Given the description of an element on the screen output the (x, y) to click on. 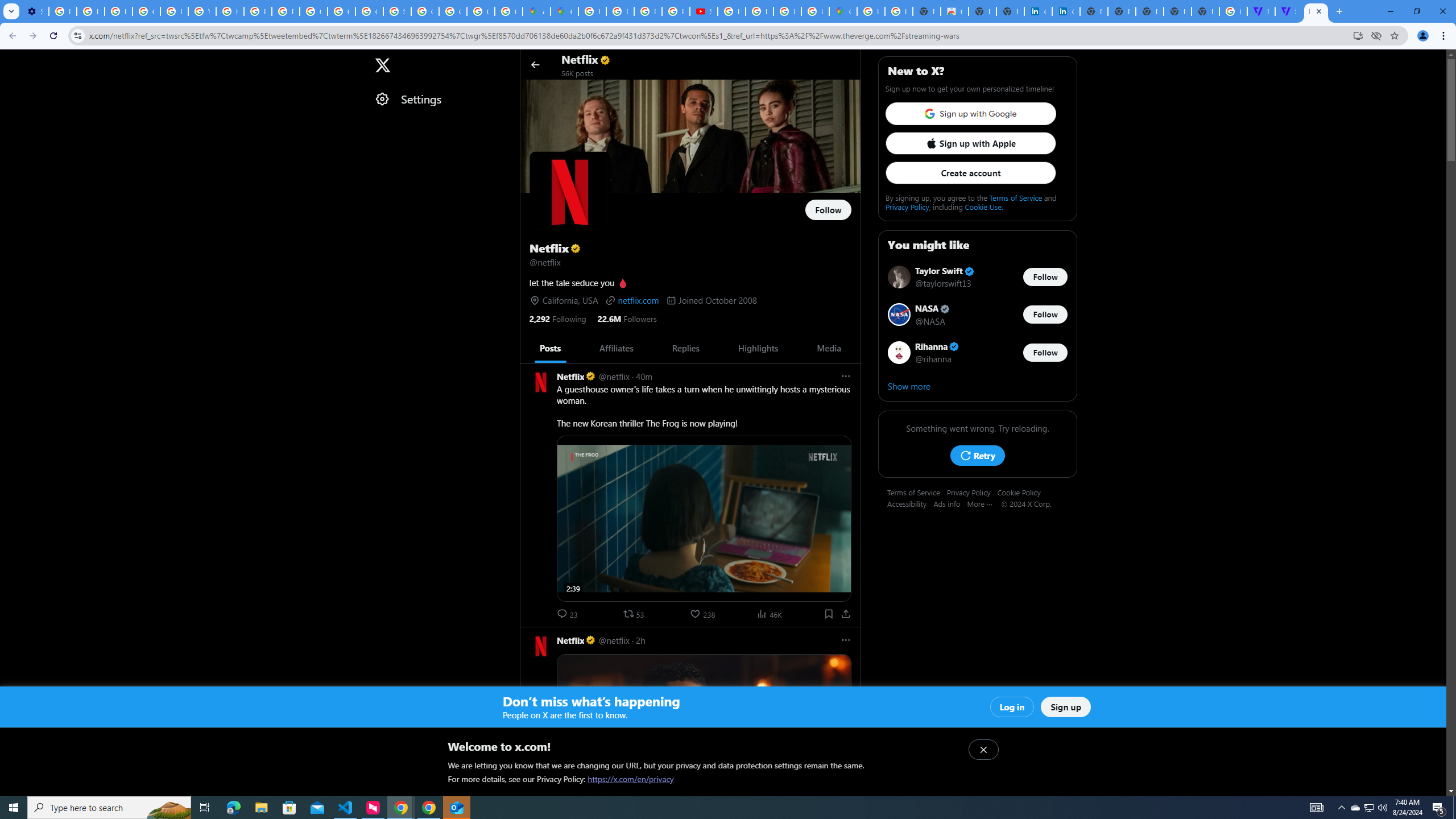
Verified account (954, 346)
Highlights (758, 347)
Square profile picture and Opens profile photo (569, 191)
@taylorswift13 (943, 283)
2 hours ago (640, 639)
238 Likes. Like (703, 613)
Streaming - The Verge (1288, 11)
